Given the description of an element on the screen output the (x, y) to click on. 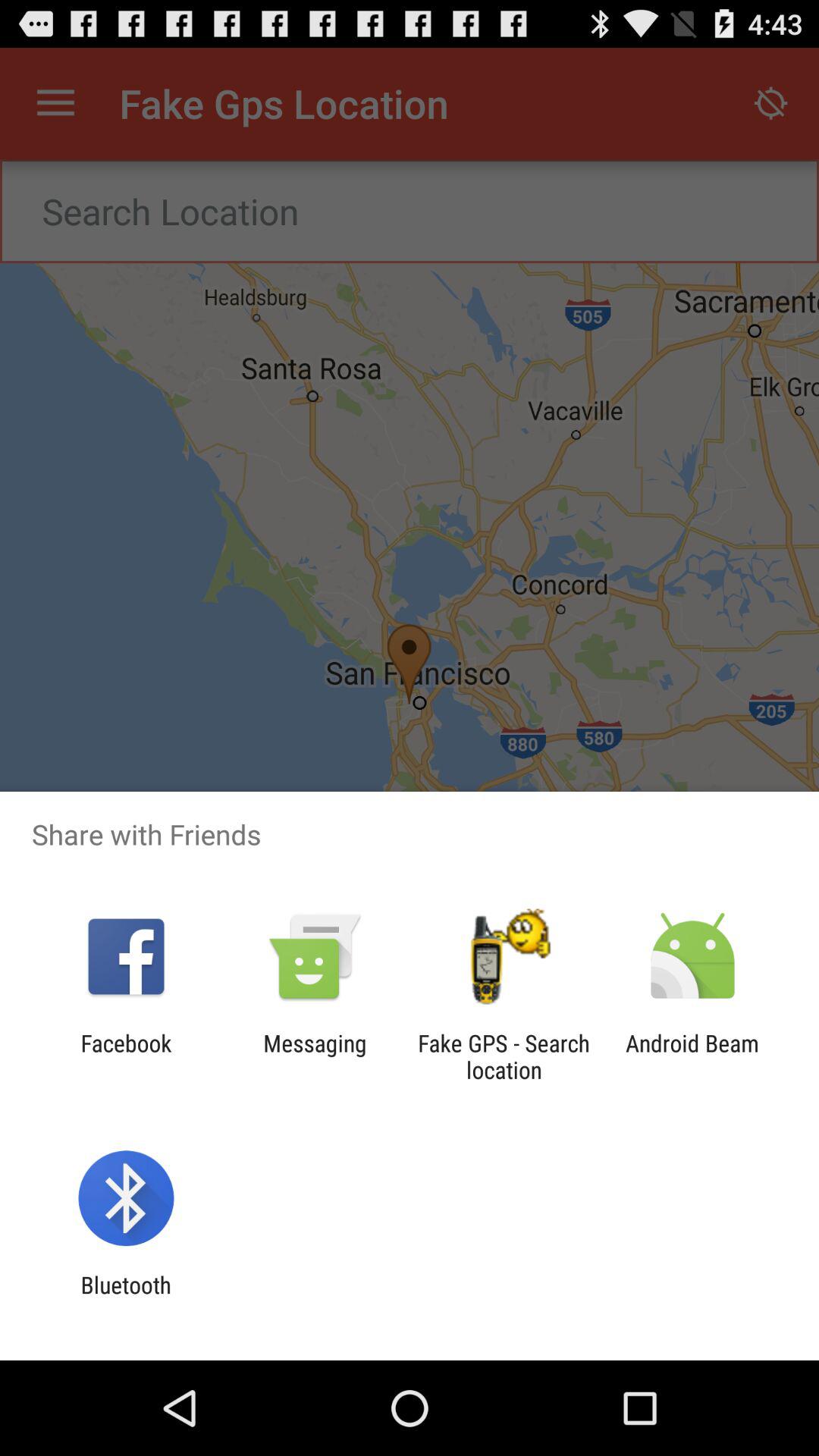
turn on the app at the bottom right corner (692, 1056)
